Given the description of an element on the screen output the (x, y) to click on. 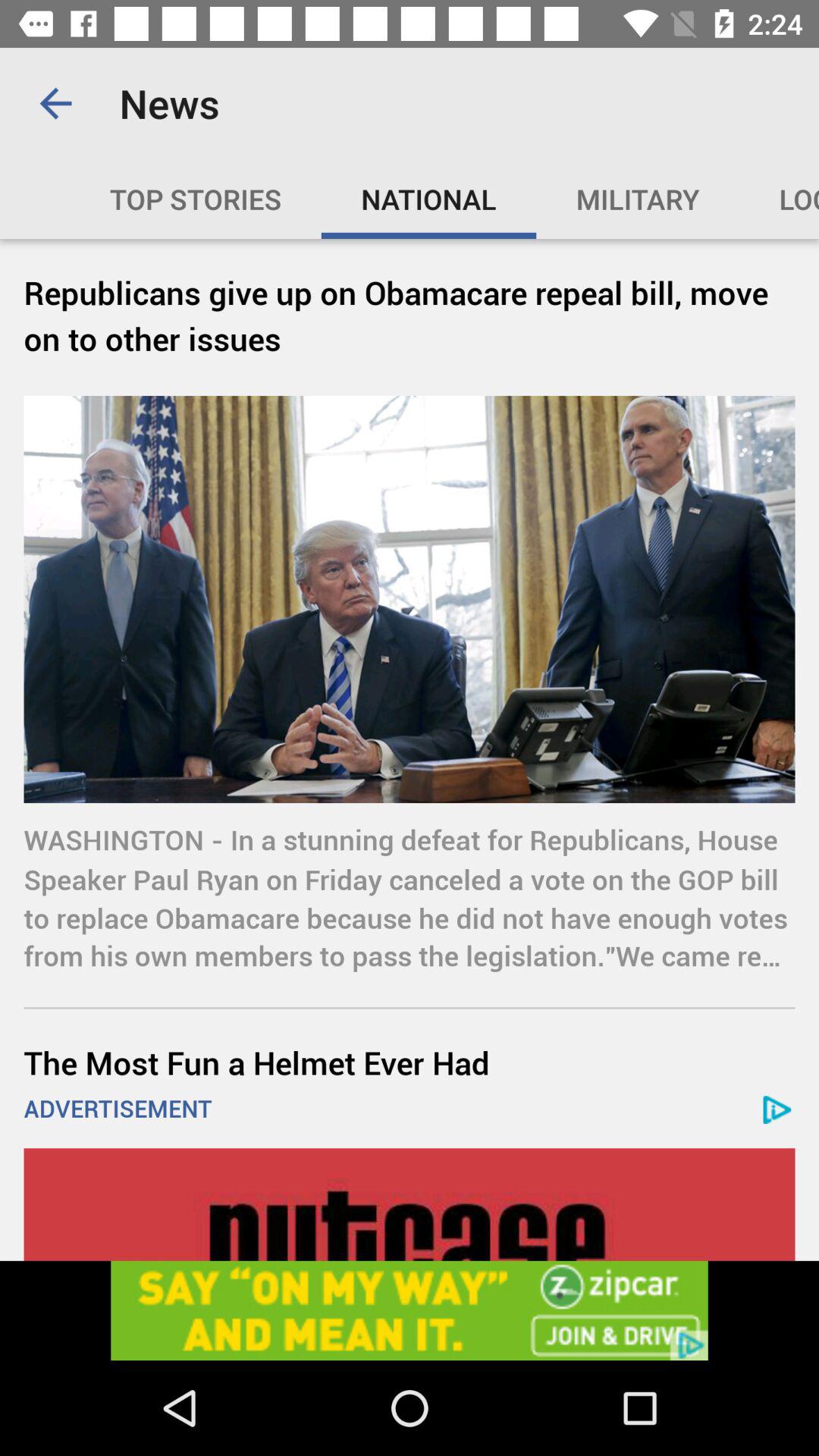
open advertisement (409, 1310)
